Given the description of an element on the screen output the (x, y) to click on. 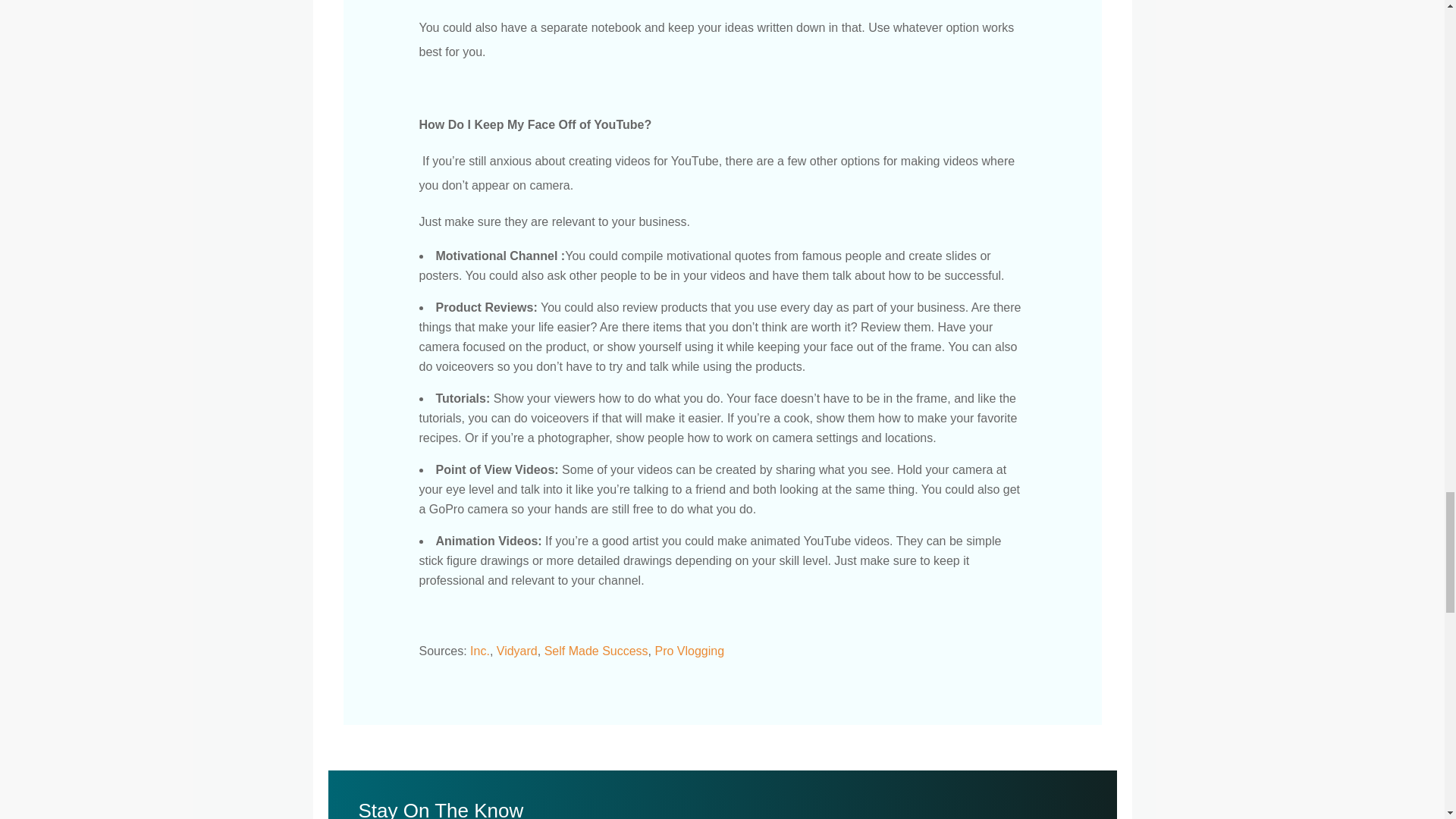
Self Made Success (595, 650)
Vidyard (516, 650)
Inc. (479, 650)
Pro Vlogging (688, 650)
